Given the description of an element on the screen output the (x, y) to click on. 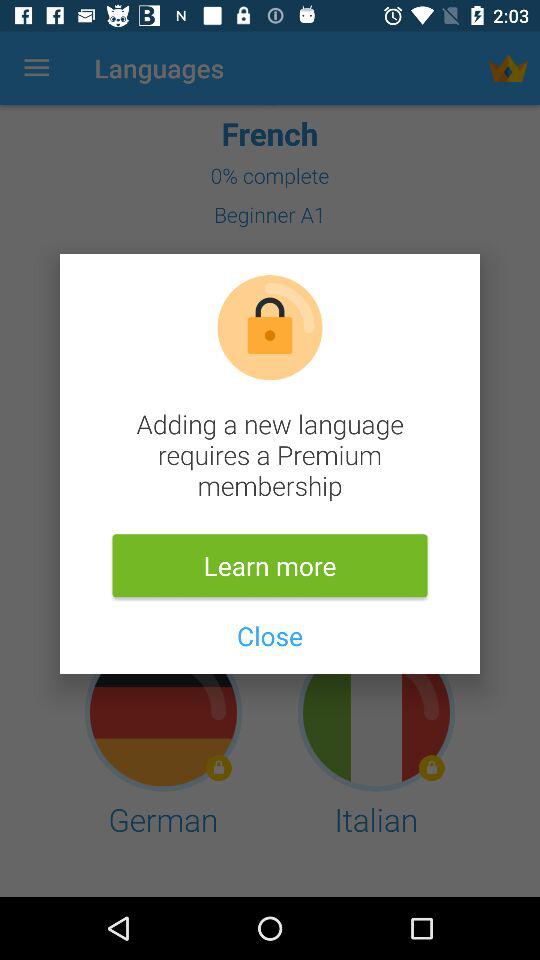
swipe to close icon (269, 635)
